Given the description of an element on the screen output the (x, y) to click on. 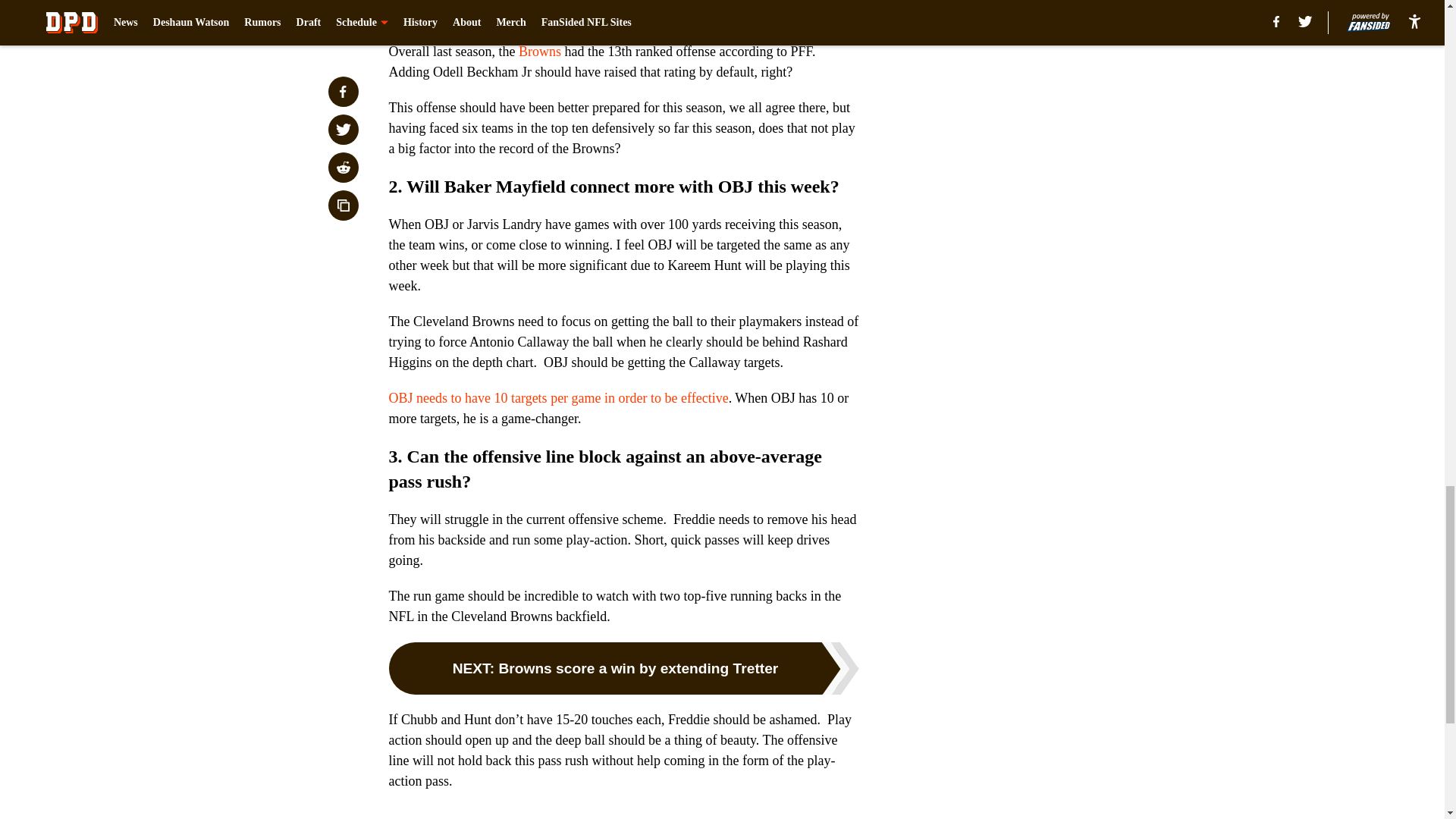
Browns News (464, 818)
NEXT: Browns score a win by extending Tretter (623, 668)
Browns (539, 51)
